Given the description of an element on the screen output the (x, y) to click on. 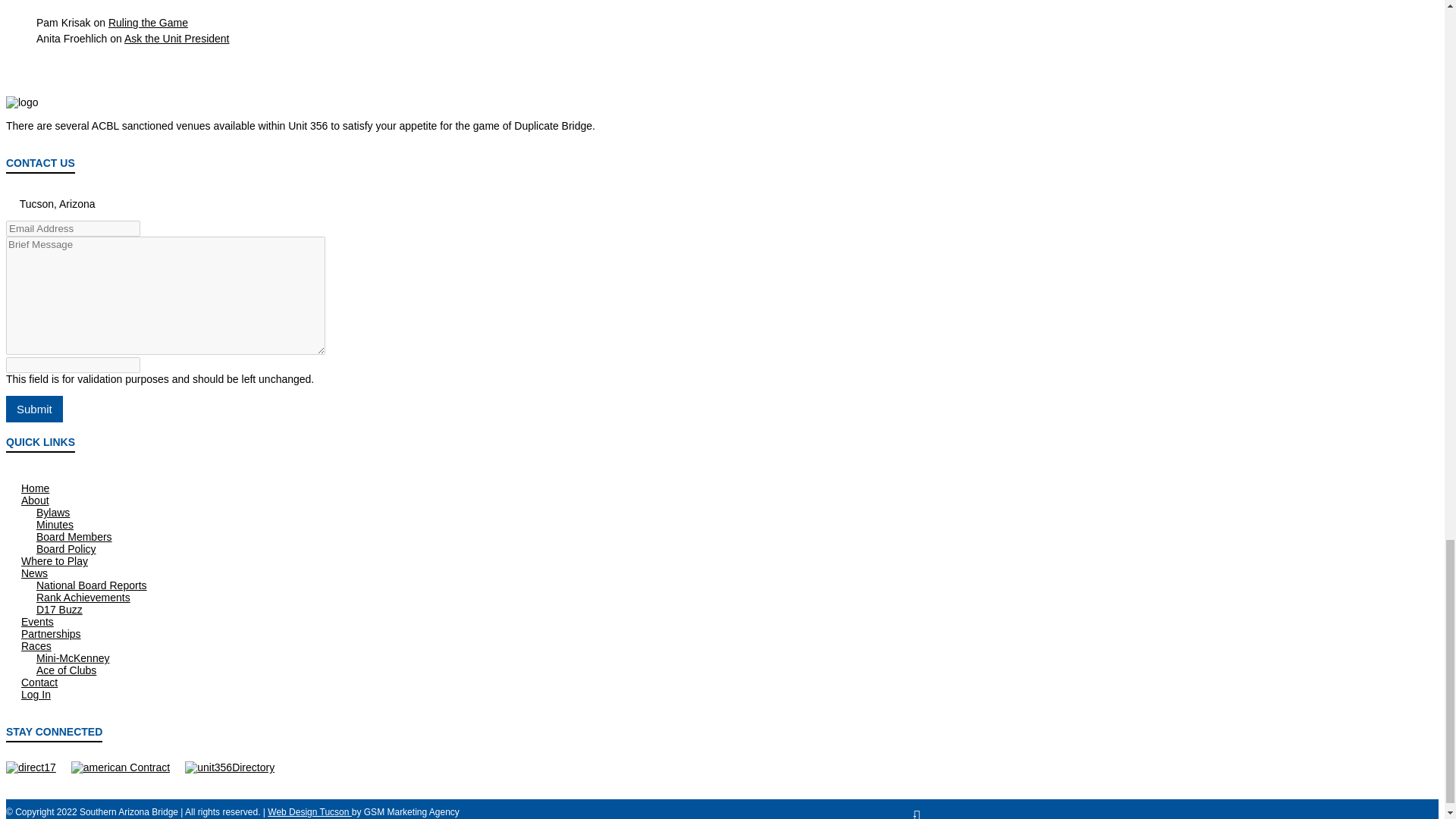
About (35, 500)
Ask the Unit President (176, 38)
Submit (33, 408)
Bylaws (52, 512)
Submit (33, 408)
Home (35, 488)
Board Policy (66, 548)
Ruling the Game (147, 22)
Board Members (74, 536)
Minutes (55, 524)
